Given the description of an element on the screen output the (x, y) to click on. 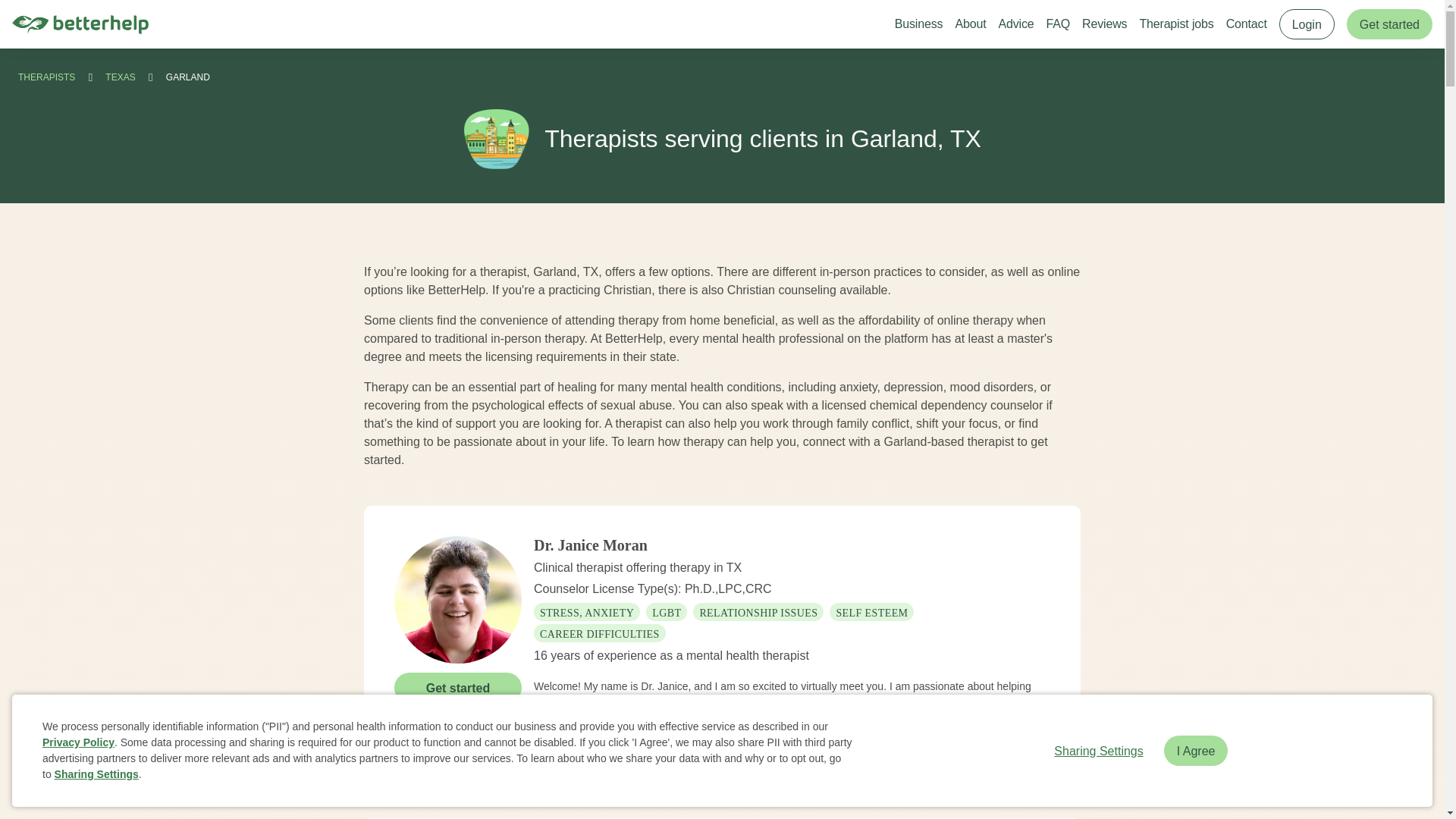
Get started (1389, 24)
Privacy Policy (78, 742)
Business (919, 24)
Sharing Settings (96, 774)
Login (1307, 24)
View profile (457, 726)
Reviews (1103, 24)
Therapist jobs (1175, 24)
TEXAS (119, 77)
Advice (1015, 24)
Sharing Settings (1098, 750)
THERAPISTS (46, 77)
Get started (457, 686)
Click here to view Dr. Janice Moran's profile 1 (457, 598)
